Given the description of an element on the screen output the (x, y) to click on. 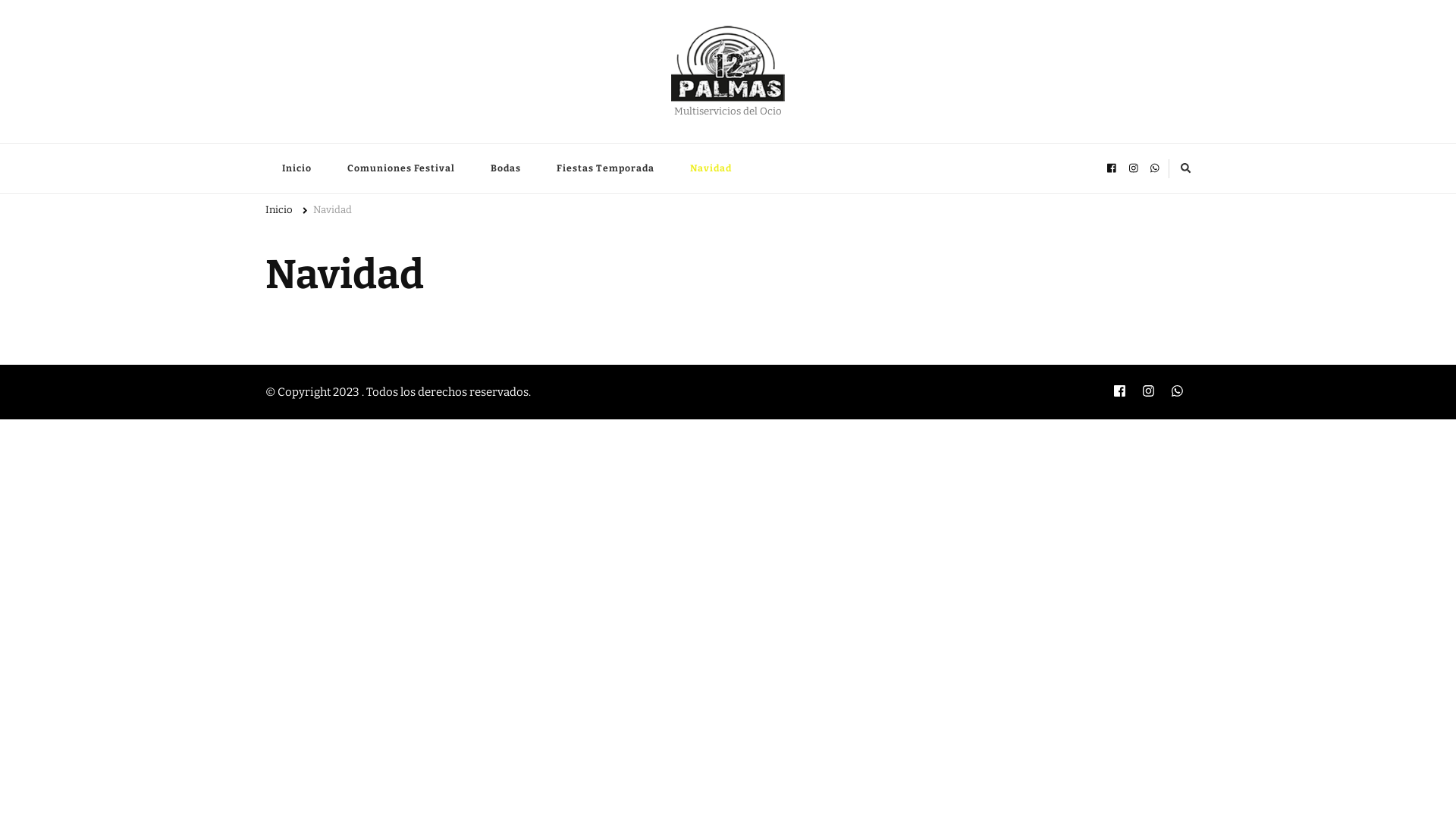
Navidad Element type: text (332, 212)
Fiestas Temporada Element type: text (605, 168)
Inicio Element type: text (296, 168)
Inicio Element type: text (278, 212)
Bodas Element type: text (505, 168)
Buscar Element type: text (1160, 168)
Comuniones Festival Element type: text (400, 168)
Navidad Element type: text (710, 168)
